Given the description of an element on the screen output the (x, y) to click on. 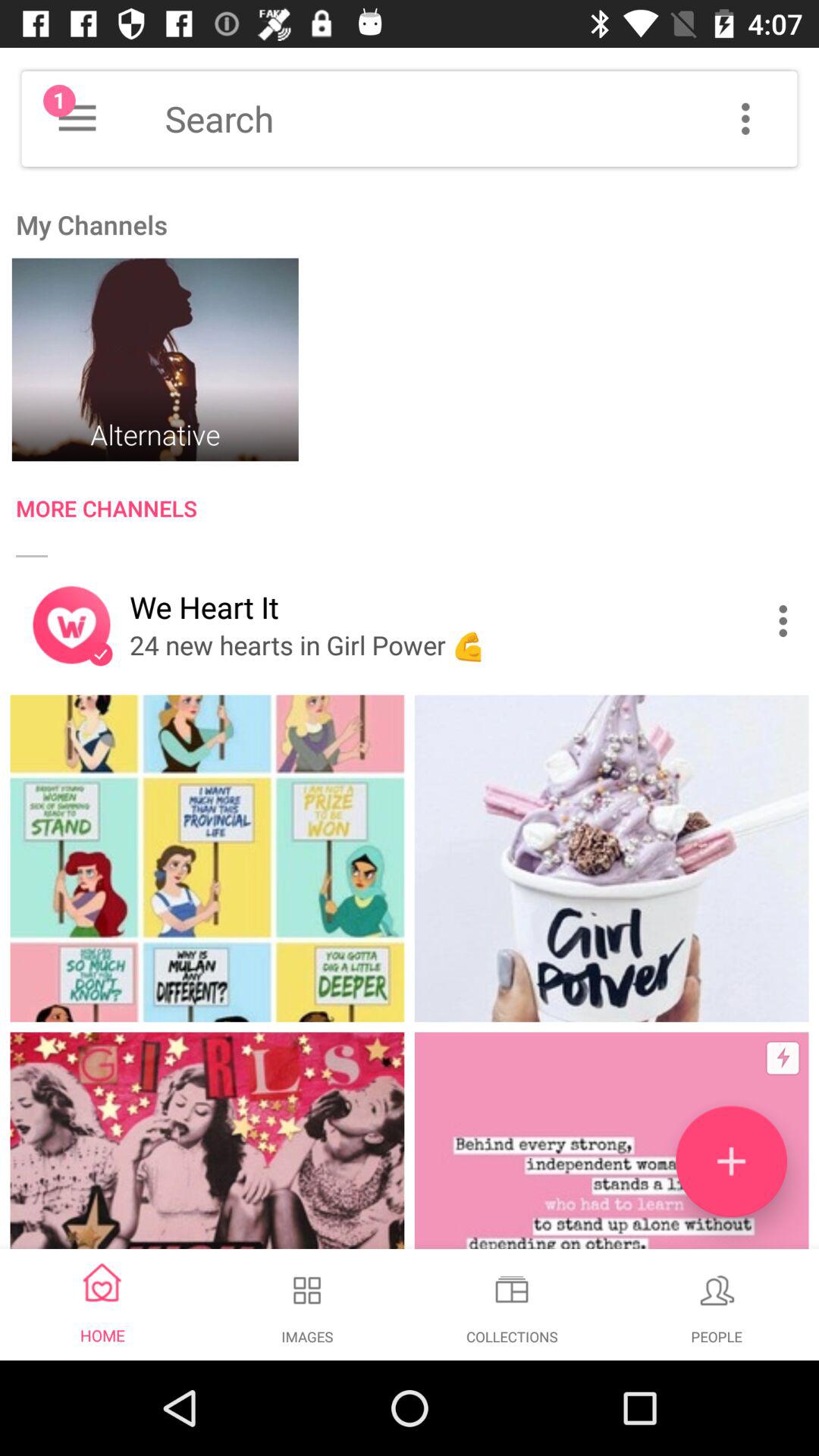
open menu (77, 118)
